Given the description of an element on the screen output the (x, y) to click on. 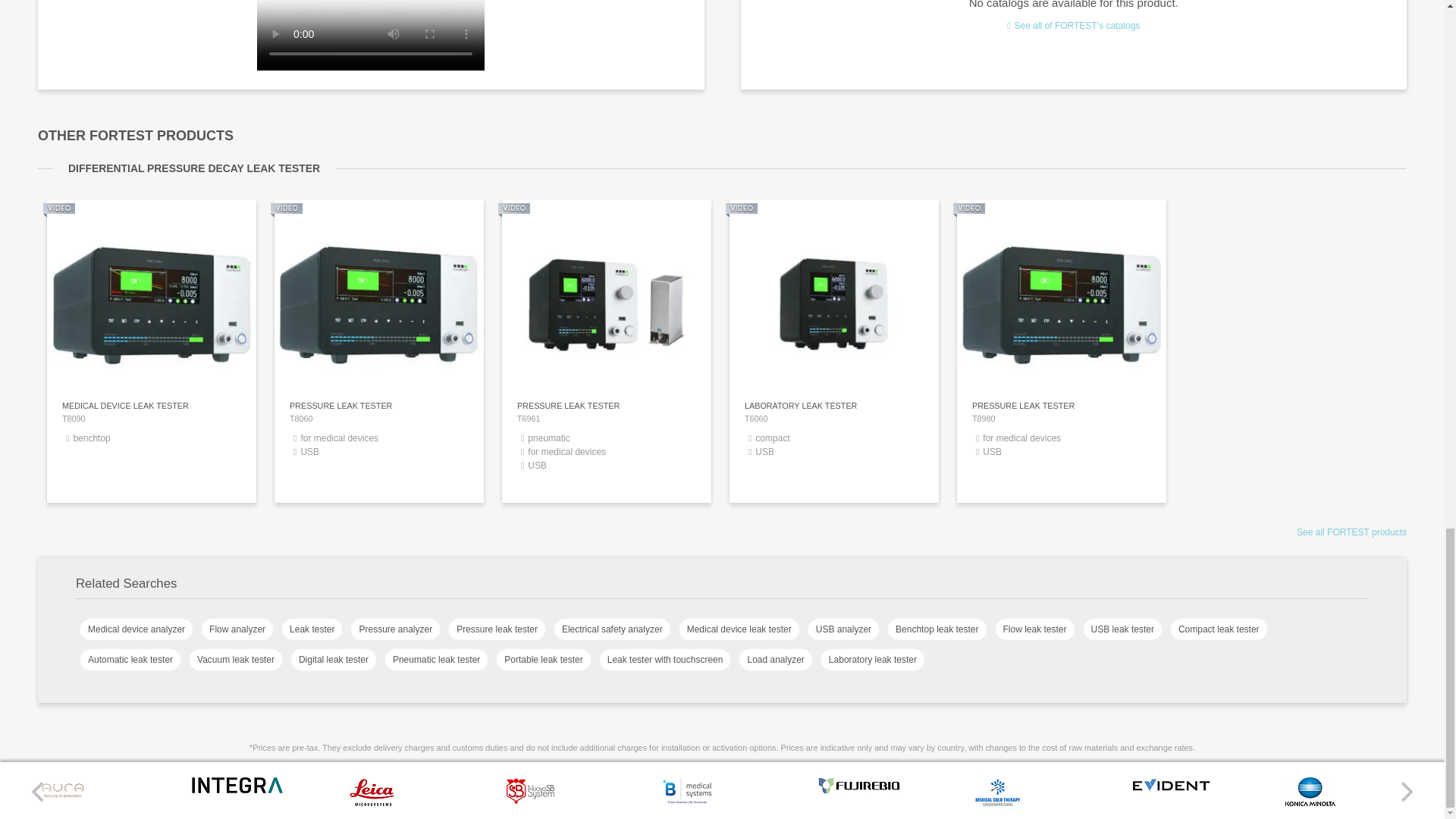
Flow analyzer (236, 629)
Pressure leak tester (497, 629)
Konica Minolta Healthcare (834, 448)
Benchtop leak tester (1310, 802)
Fujirebio (936, 629)
Pressure analyzer (860, 790)
Aura (395, 629)
B Medical Systems (62, 800)
